Given the description of an element on the screen output the (x, y) to click on. 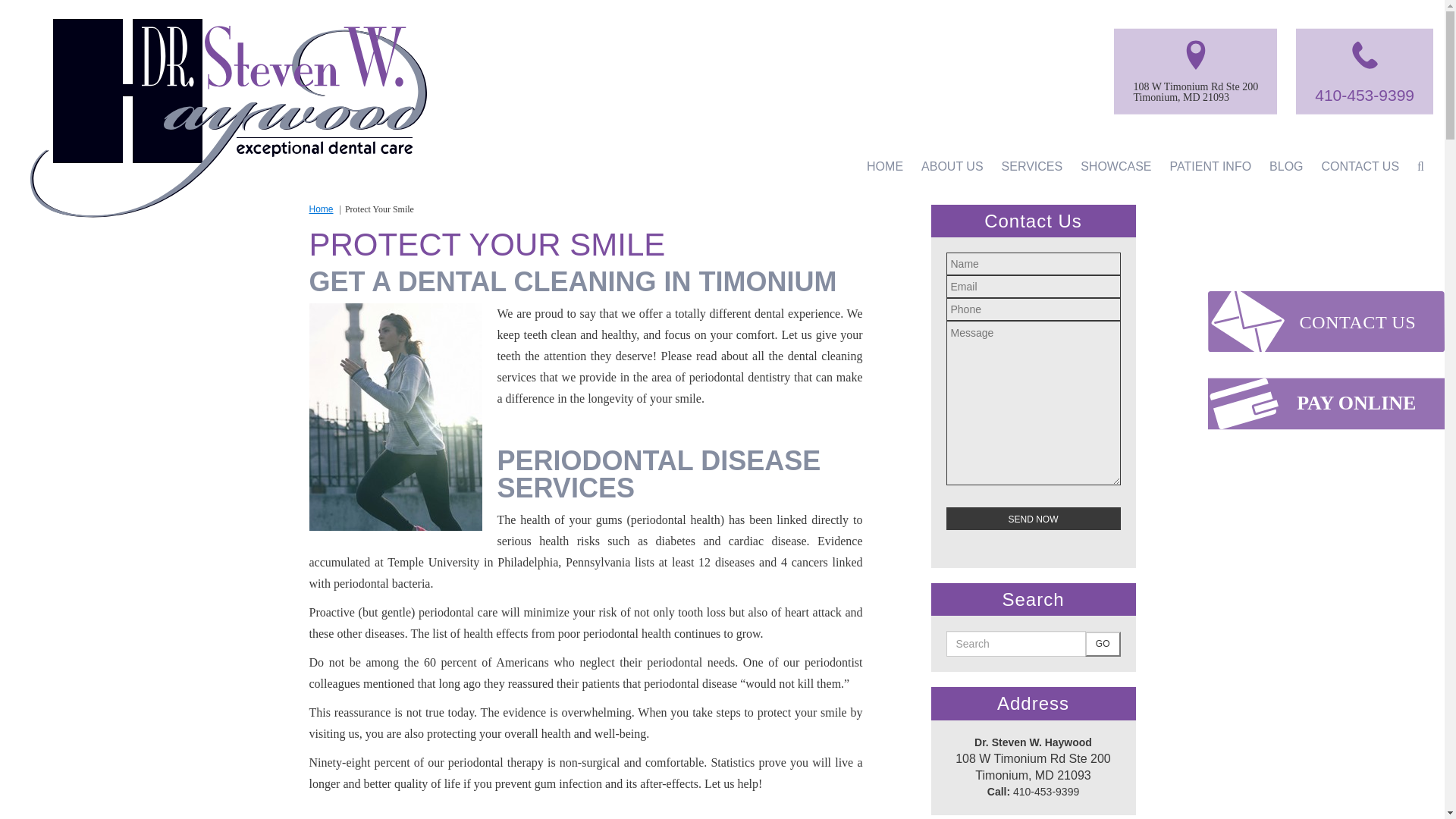
SERVICES (1031, 166)
Dr.Steven W. Haywood (228, 92)
410-453-9399 (1363, 95)
HOME (884, 166)
Send Now (1033, 517)
ABOUT US (952, 166)
Search for: (1016, 643)
